Given the description of an element on the screen output the (x, y) to click on. 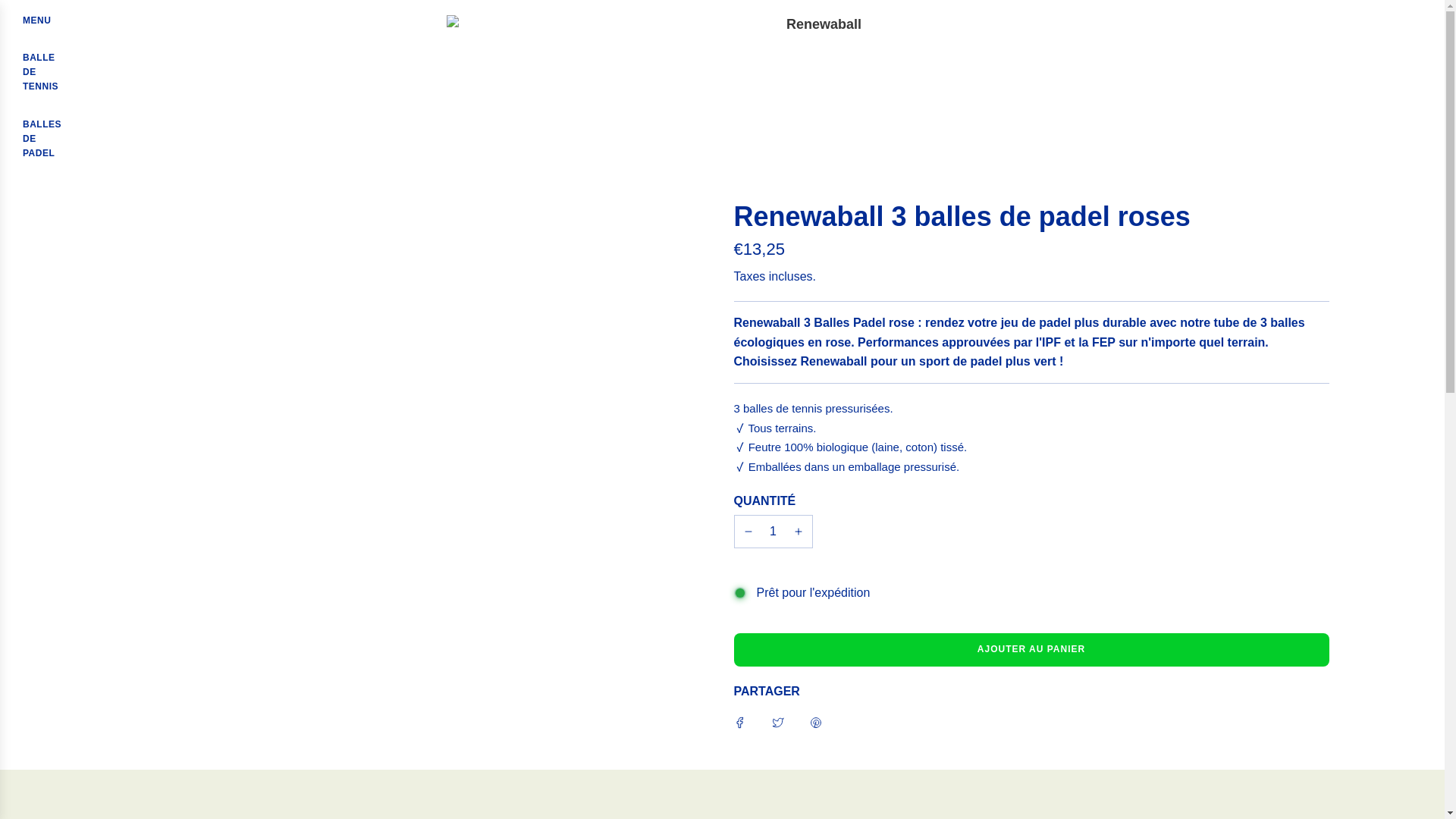
MENU (36, 20)
BALLE DE TENNIS (41, 72)
BALLES DE PADEL (1031, 649)
